Given the description of an element on the screen output the (x, y) to click on. 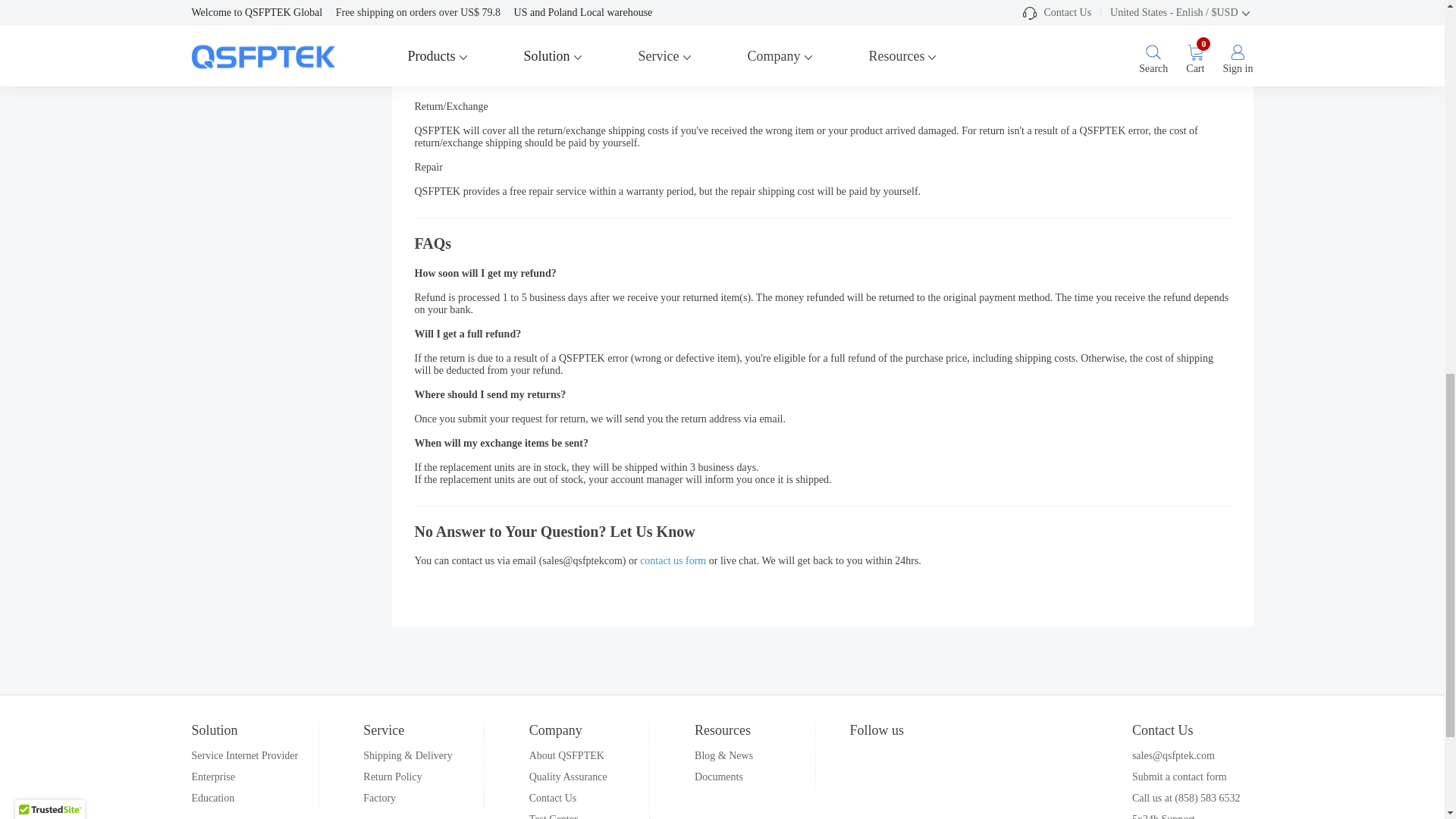
TrustedSite Certified (49, 4)
